Given the description of an element on the screen output the (x, y) to click on. 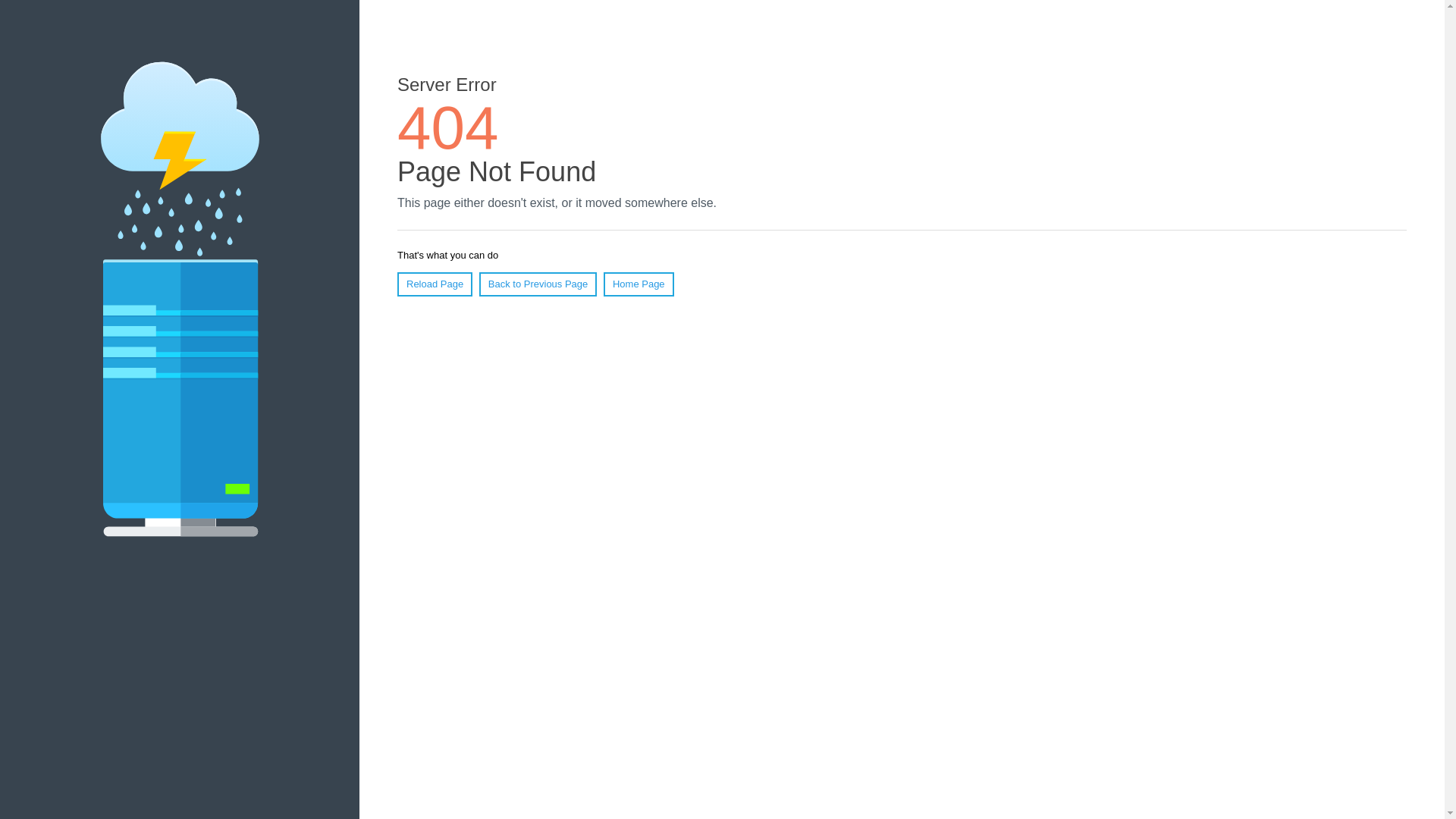
Back to Previous Page Element type: text (538, 284)
Reload Page Element type: text (434, 284)
Home Page Element type: text (638, 284)
